Given the description of an element on the screen output the (x, y) to click on. 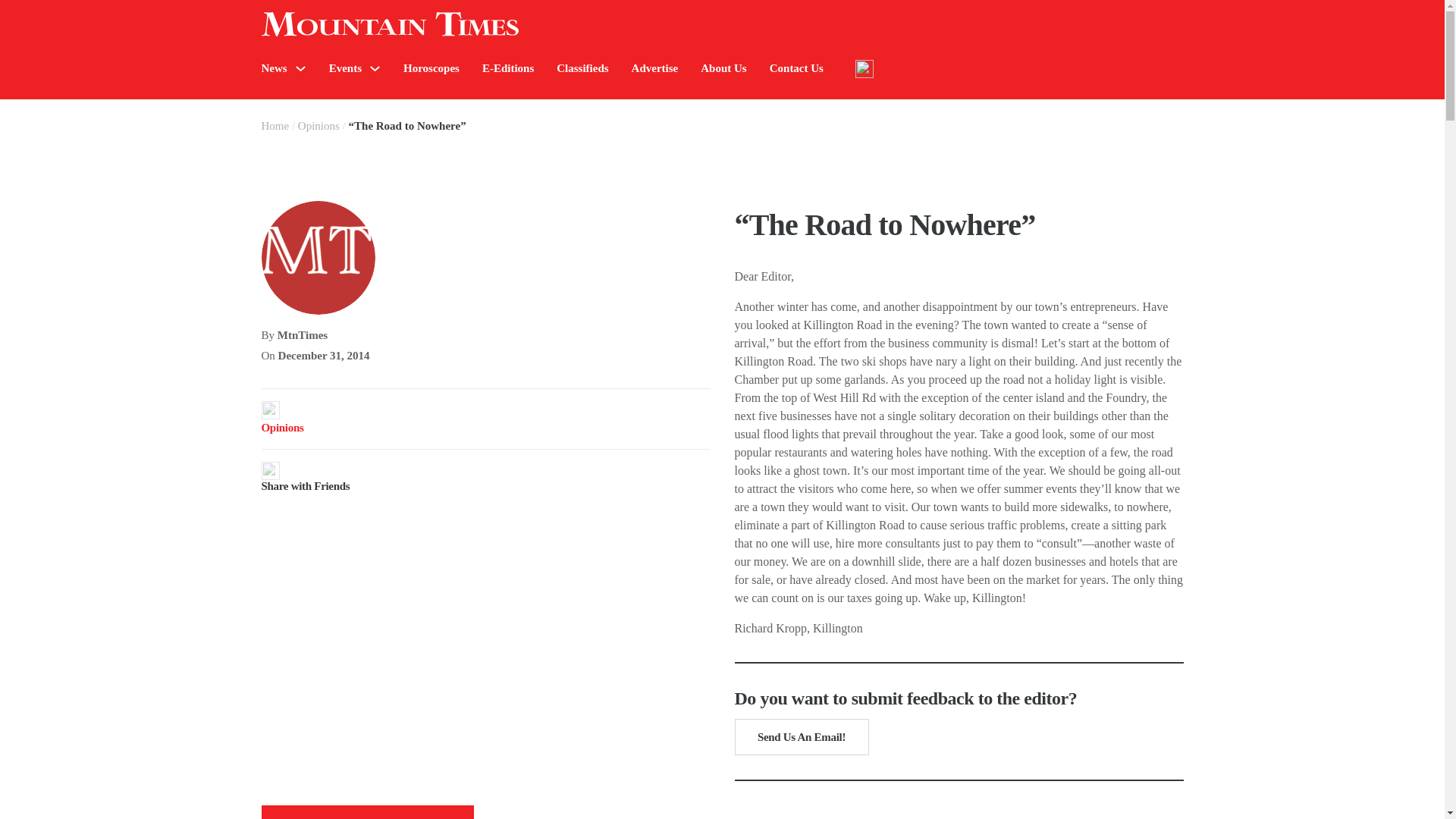
About Us (722, 67)
Search (1274, 114)
Home (274, 125)
Advertise (654, 67)
Send Us An Email! (800, 737)
News (273, 67)
Share with Friends (485, 476)
Opinions (318, 125)
Events (345, 67)
E-Editions (507, 67)
MtnTimes (302, 335)
Horoscopes (431, 67)
Contact Us (797, 67)
Opinions (281, 427)
Classifieds (582, 67)
